Given the description of an element on the screen output the (x, y) to click on. 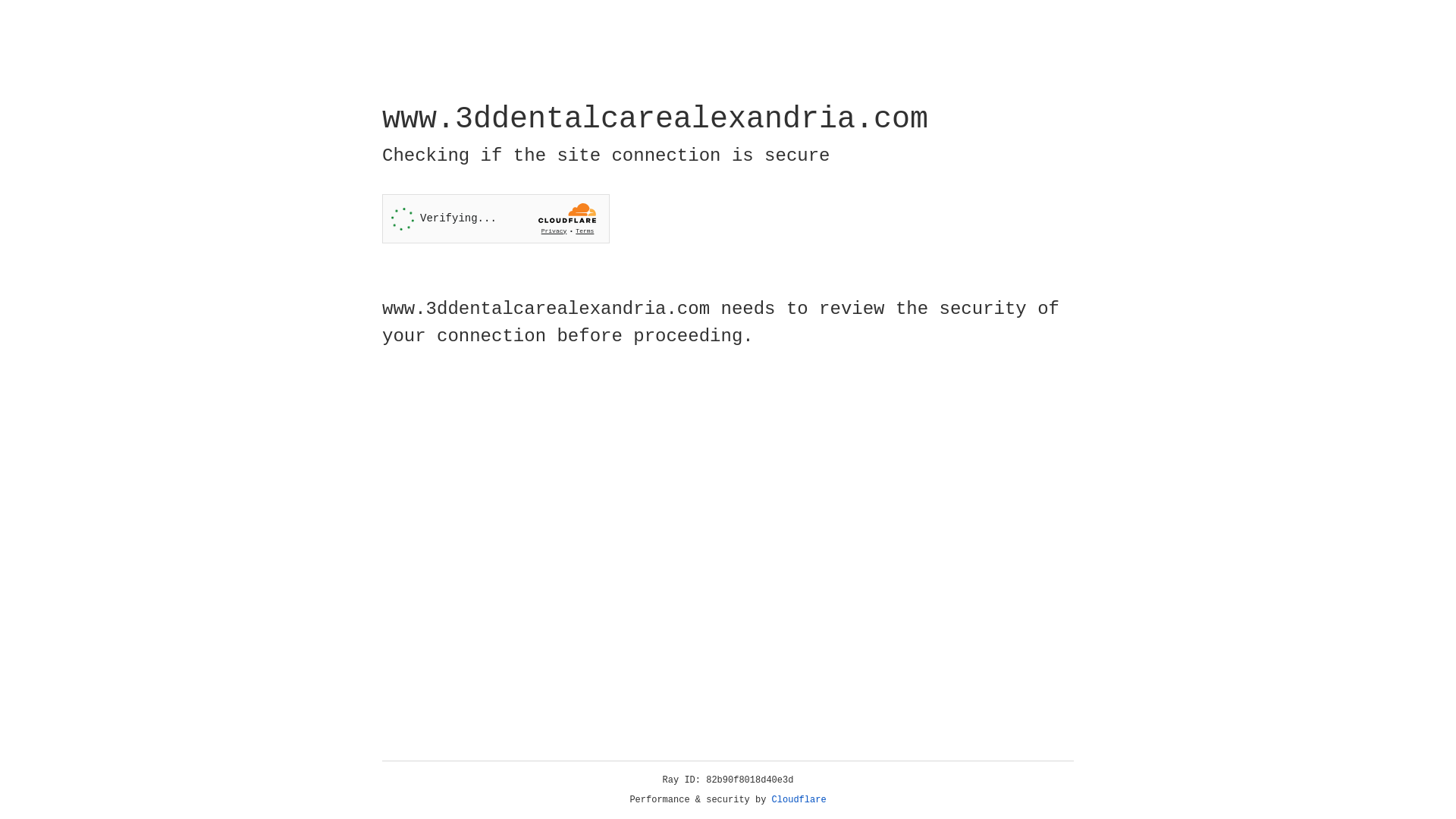
Widget containing a Cloudflare security challenge Element type: hover (495, 218)
Cloudflare Element type: text (798, 799)
